Given the description of an element on the screen output the (x, y) to click on. 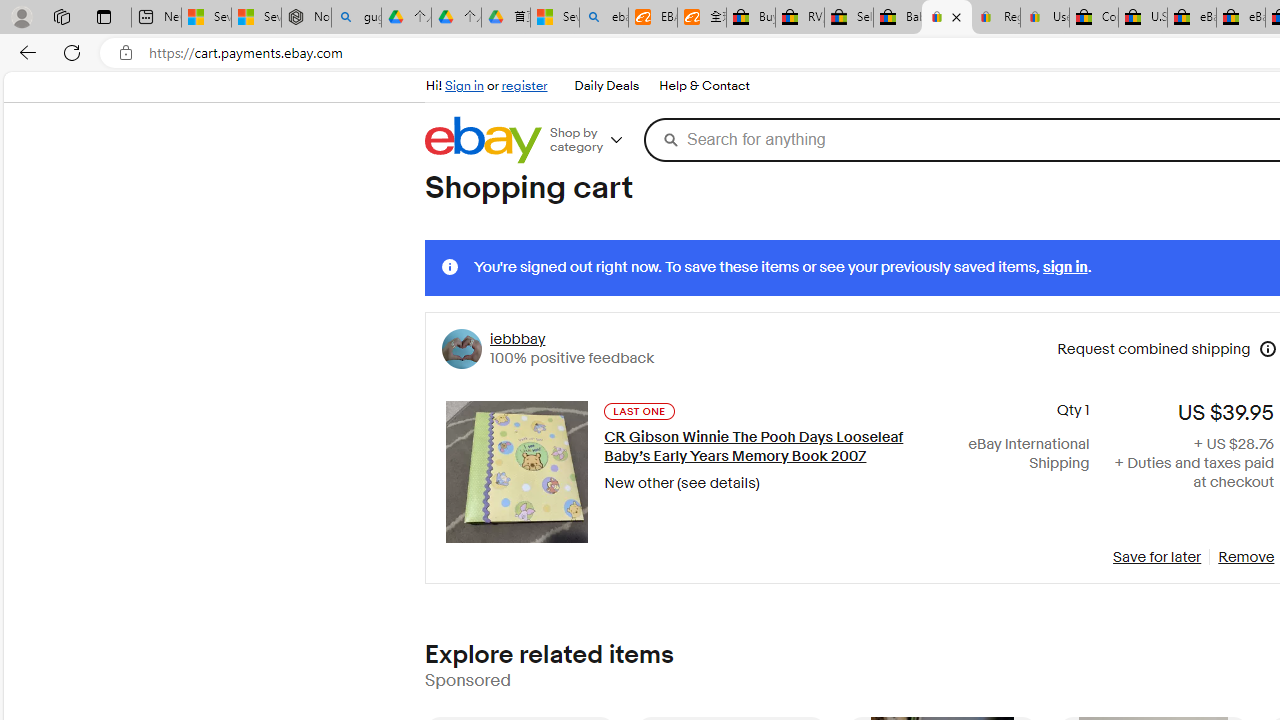
Register: Create a personal eBay account (995, 17)
Information about requesting combined shipping from iebbbay (1268, 349)
U.S. State Privacy Disclosures - eBay Inc. (1142, 17)
register (523, 85)
Daily Deals (605, 85)
guge yunpan - Search (356, 17)
Shop by category (593, 140)
Information (449, 267)
